Given the description of an element on the screen output the (x, y) to click on. 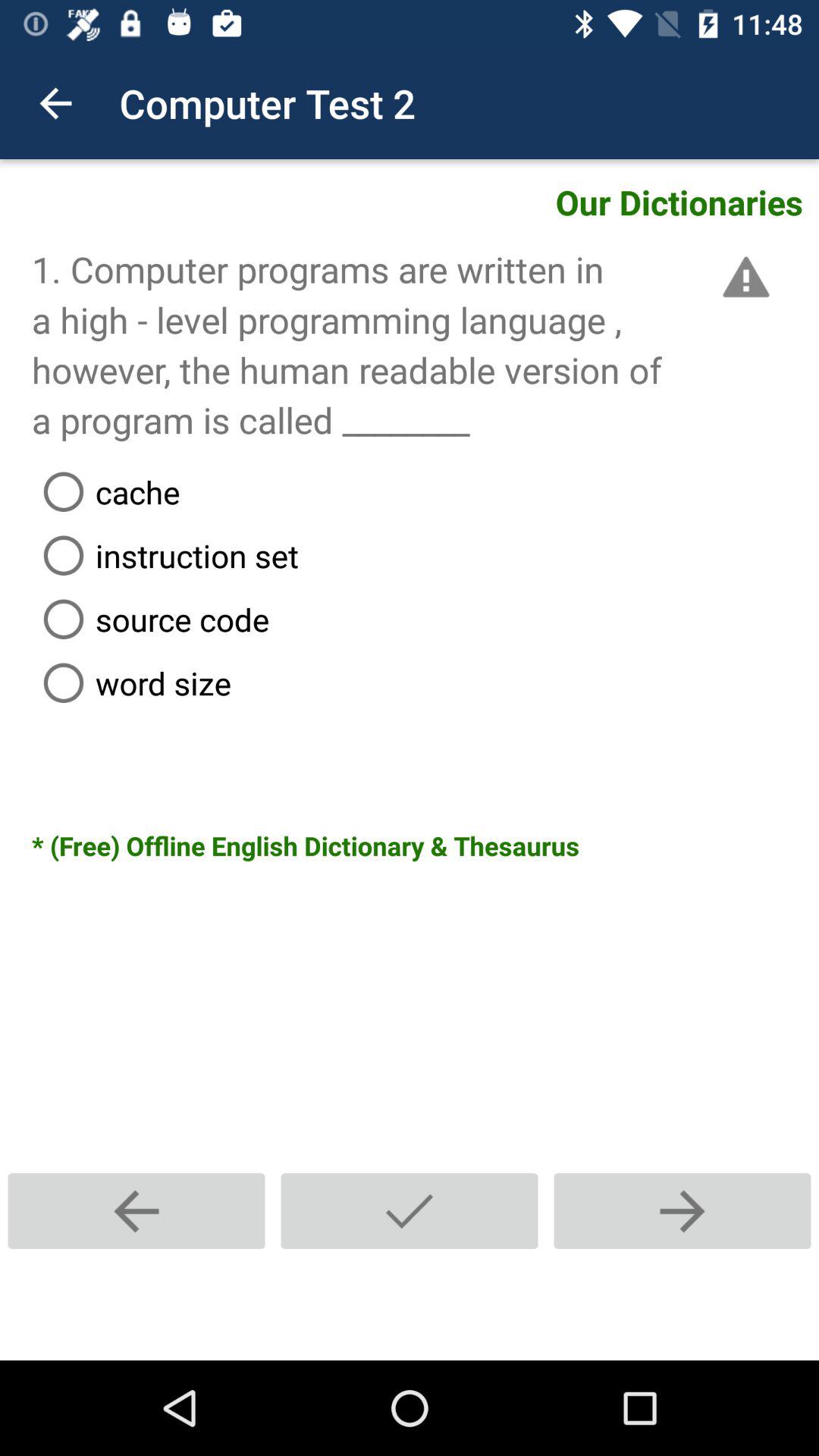
open icon below instruction set item (425, 619)
